Given the description of an element on the screen output the (x, y) to click on. 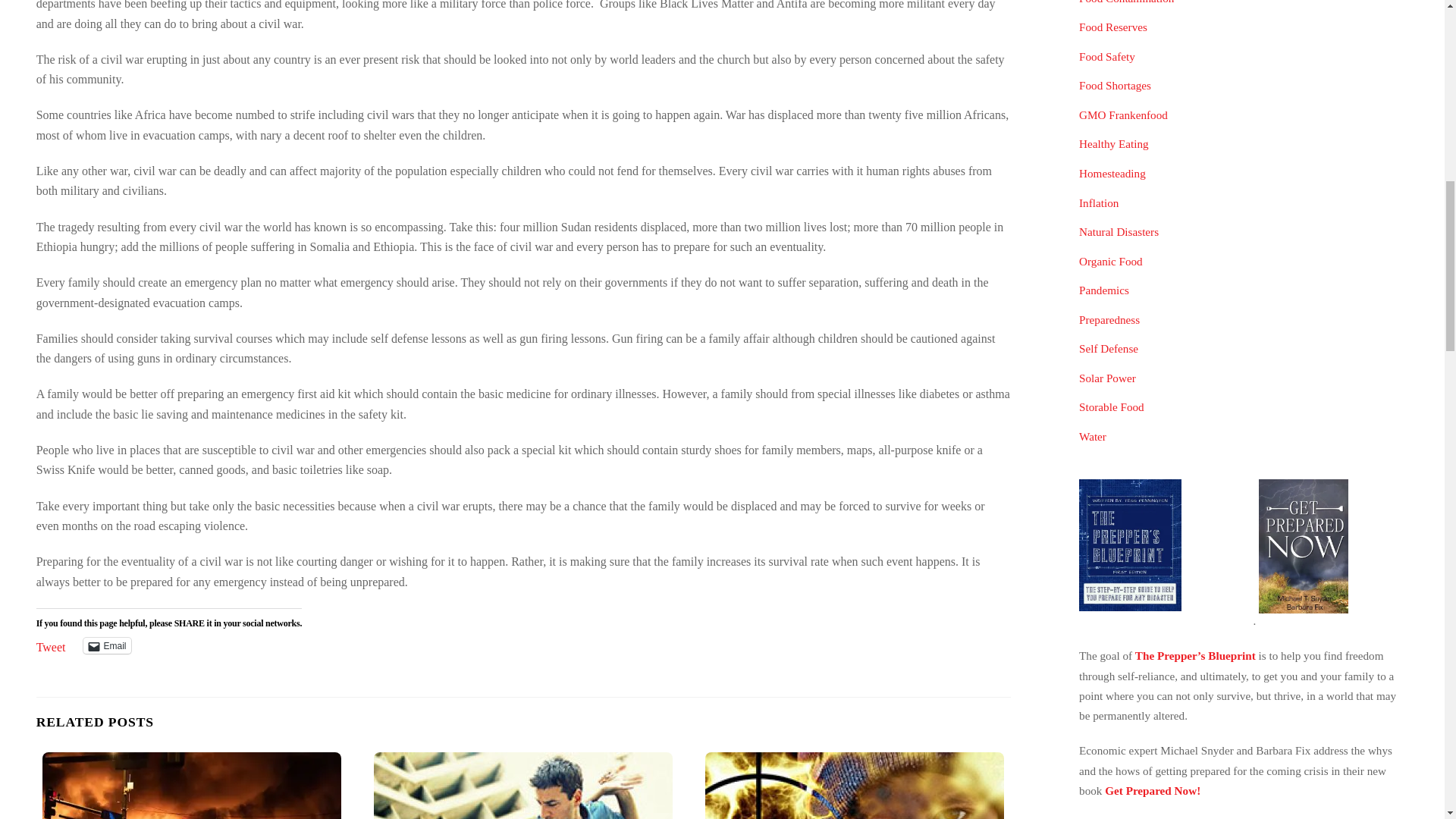
riots (191, 785)
war (854, 785)
Tweet (50, 644)
Email (106, 645)
Click to email a link to a friend (106, 645)
martial-arts2 (523, 785)
